Given the description of an element on the screen output the (x, y) to click on. 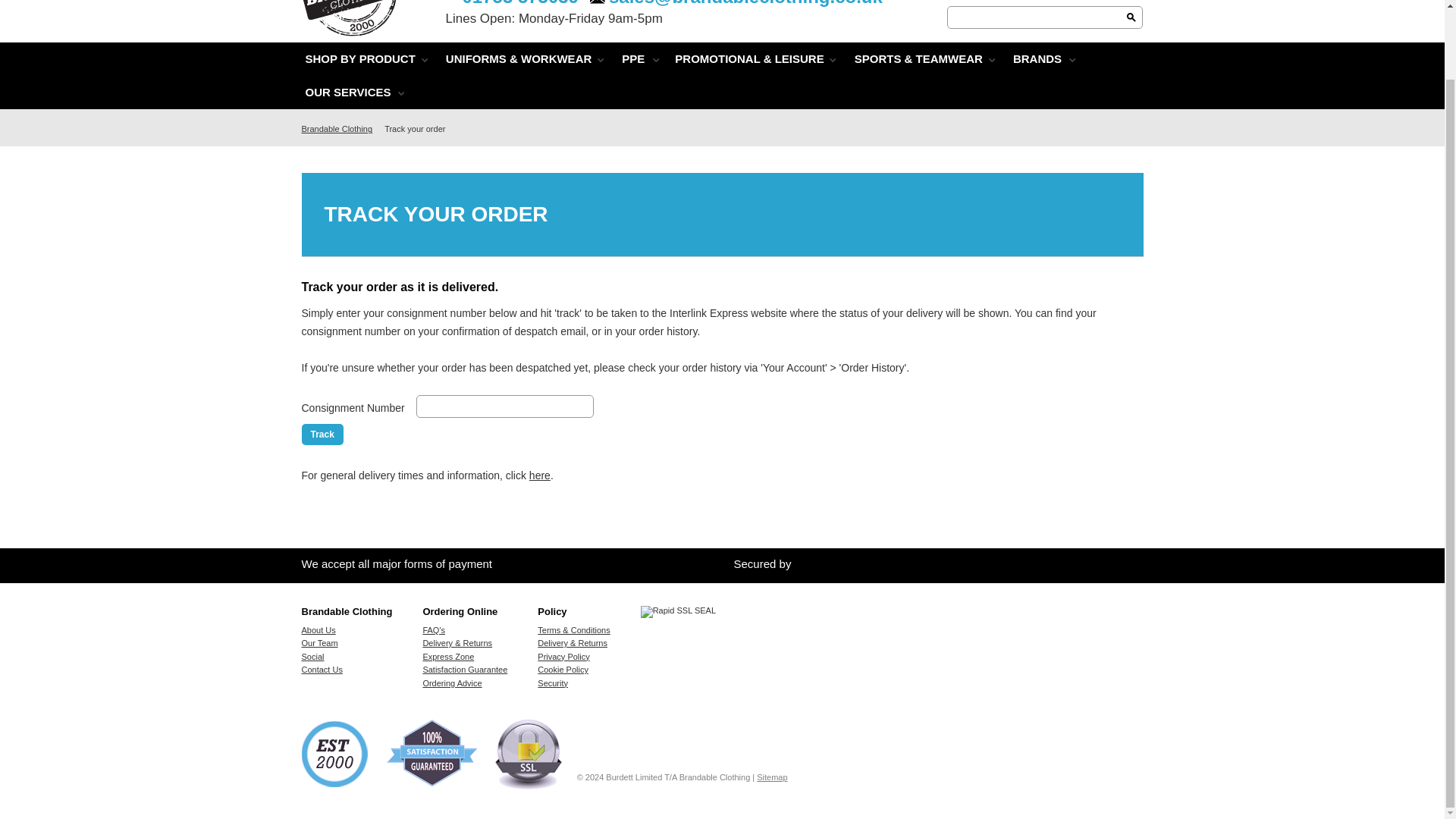
SHOP BY PRODUCT (359, 59)
01753 573039 (512, 2)
Brandable Clothing (354, 28)
Search (1130, 16)
Consignment Number (505, 405)
Go to Home Page (340, 128)
